Given the description of an element on the screen output the (x, y) to click on. 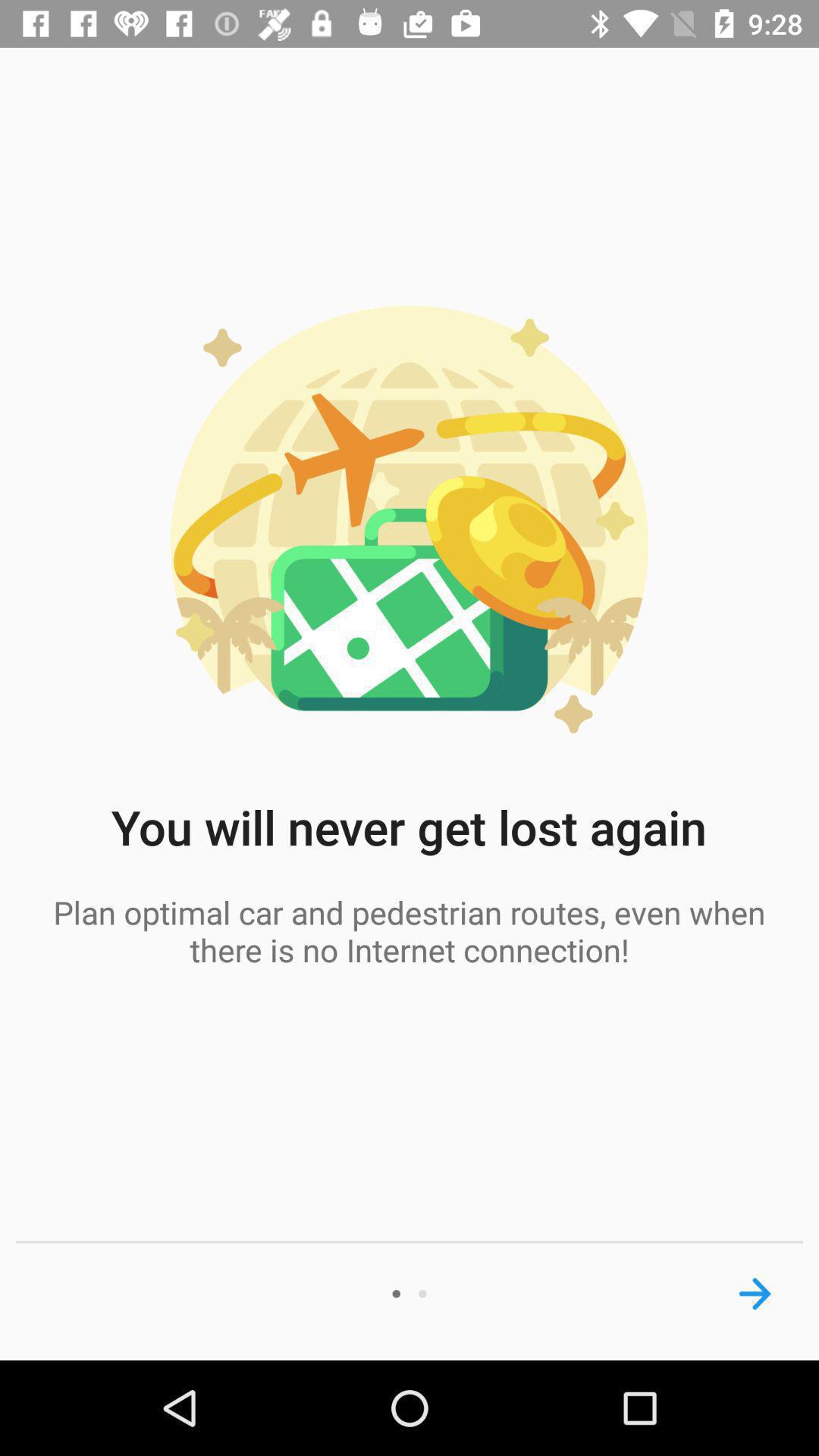
next screen button (755, 1293)
